Given the description of an element on the screen output the (x, y) to click on. 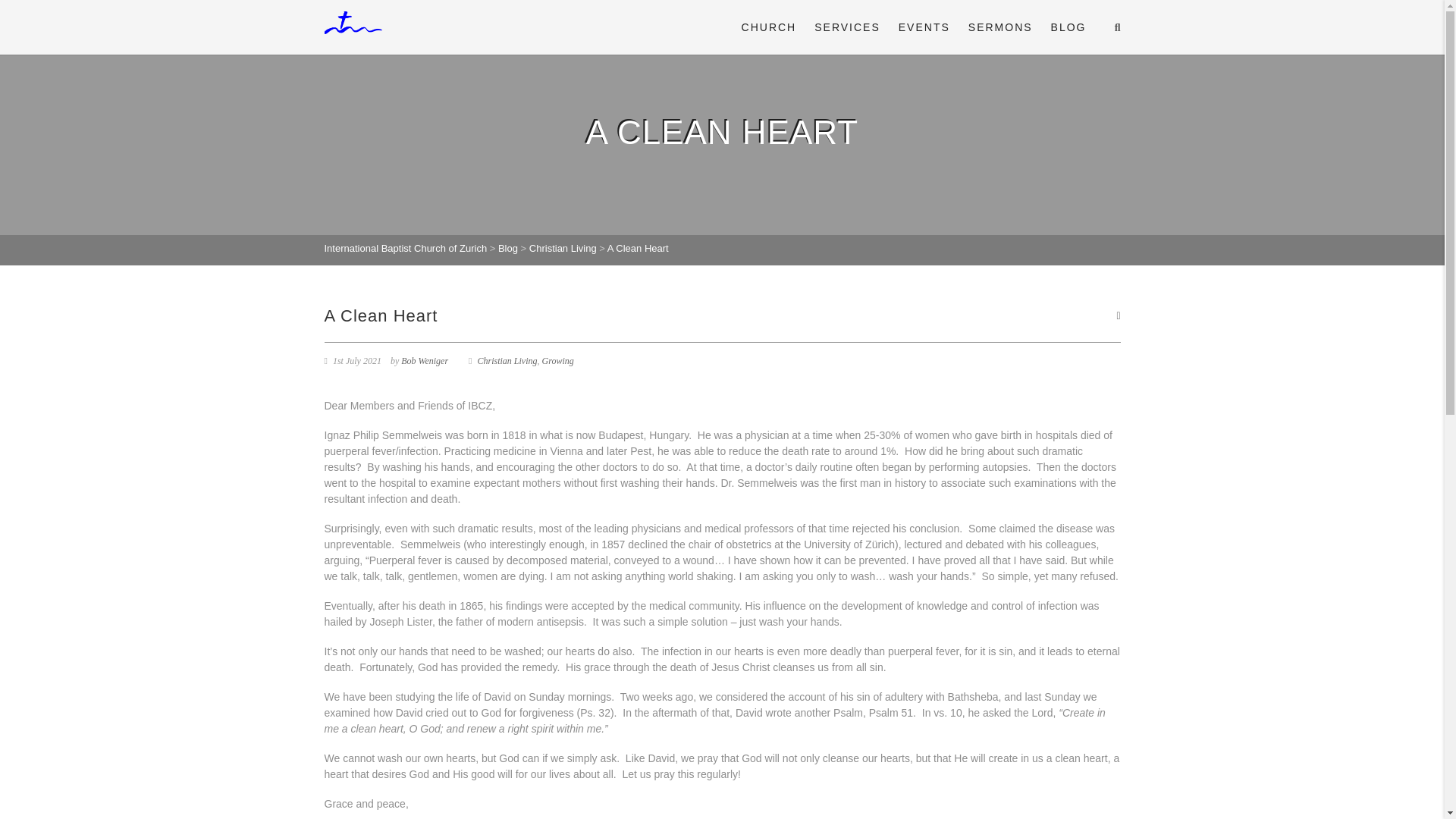
Christian Living (562, 247)
SERVICES (847, 27)
Go to Blog. (507, 247)
Blog (507, 247)
Go to the Christian Living Category archives. (562, 247)
International Baptist Church of Zurich (405, 247)
EVENTS (924, 27)
IBCZ - International Baptist Church of Zurich (352, 22)
CHURCH (769, 27)
Go to International Baptist Church of Zurich. (405, 247)
